Given the description of an element on the screen output the (x, y) to click on. 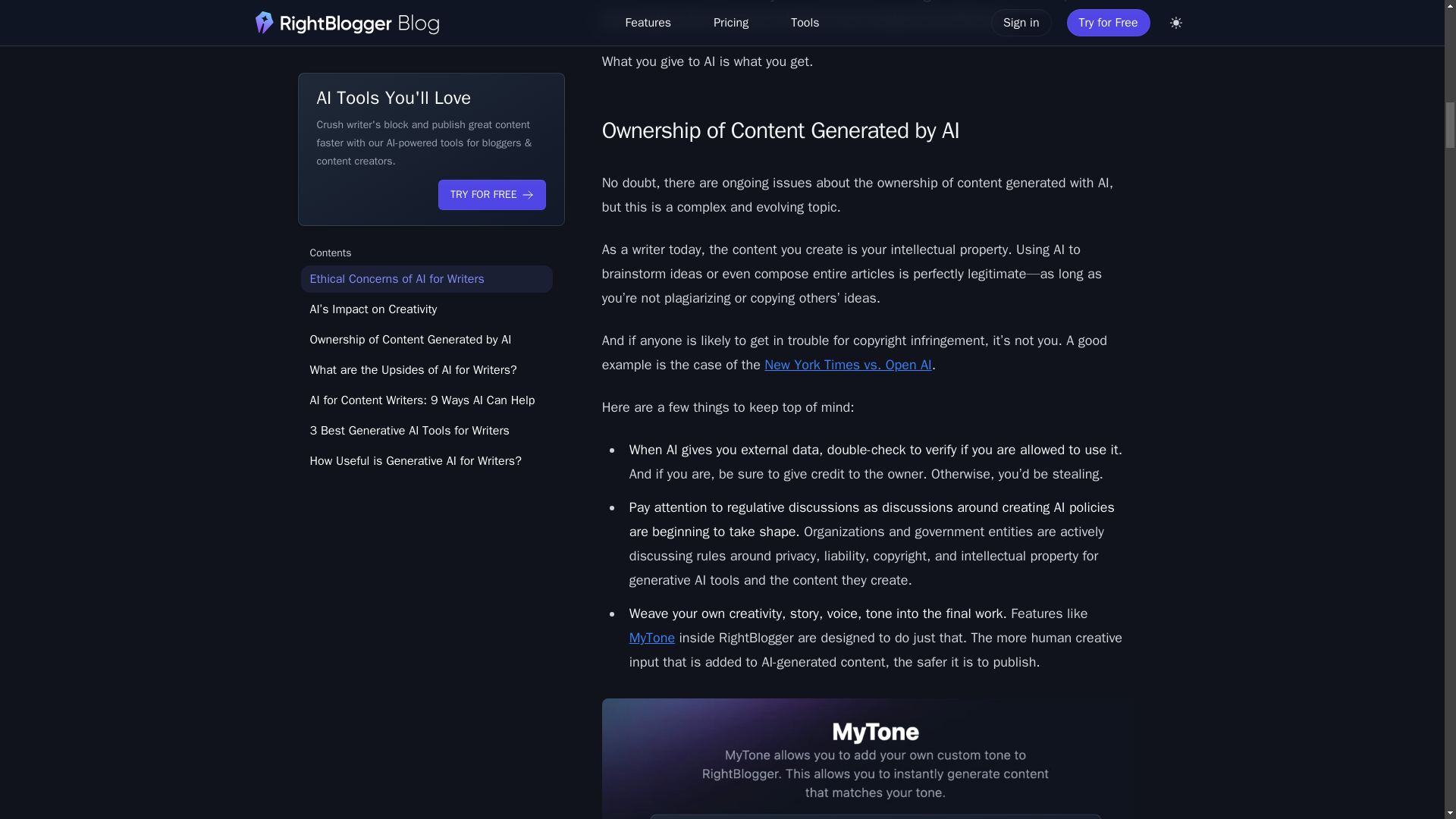
MyTone (651, 637)
New York Times vs. Open AI (847, 364)
